Given the description of an element on the screen output the (x, y) to click on. 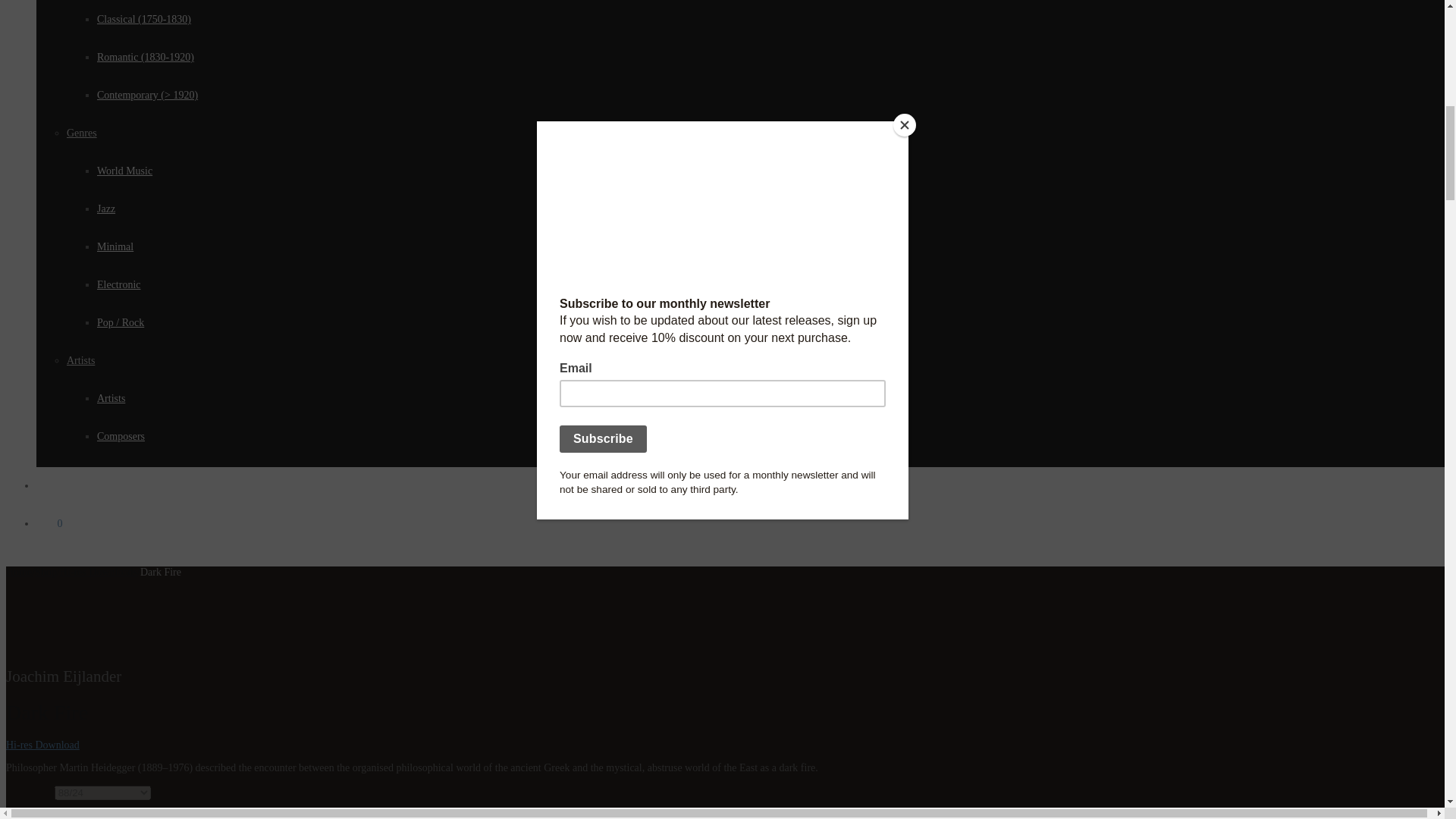
Cart 0 (49, 523)
Hi-res Downloads (97, 572)
World Music (124, 170)
Electronic (119, 284)
Hi-res Download (42, 745)
Home (18, 572)
Artists (111, 398)
Minimal (115, 246)
Login (48, 485)
Composers (120, 436)
Genres (81, 132)
Jazz (106, 208)
Shop (45, 572)
Artists (80, 360)
